Given the description of an element on the screen output the (x, y) to click on. 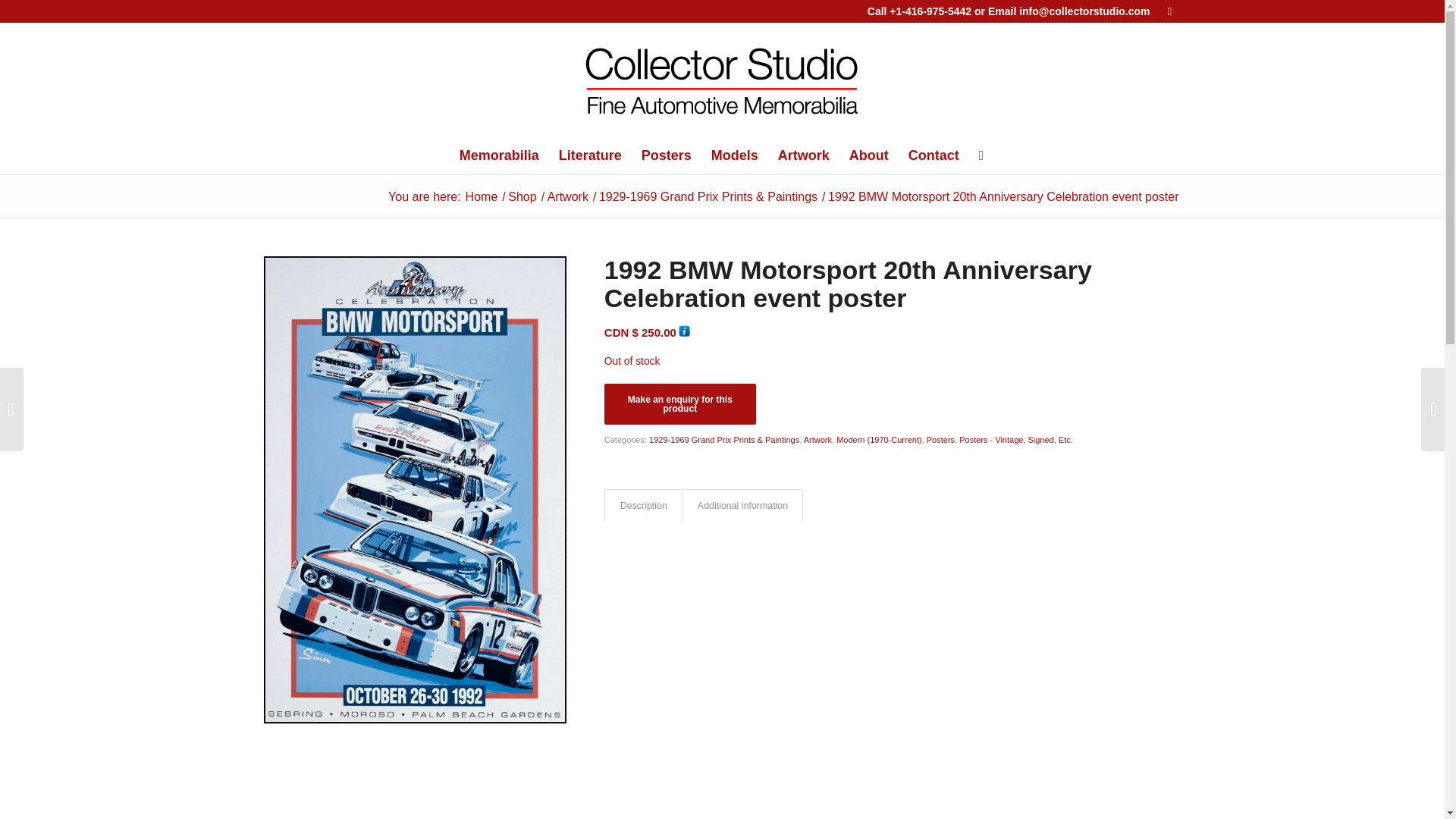
Literature (589, 155)
Make an enquiry for this product (679, 404)
BMWMoroso20th (414, 746)
Shop (521, 196)
Artwork (567, 196)
Collector Studio - Fine Automotive Memorabilia (481, 196)
Models (734, 155)
Instagram (1169, 11)
Memorabilia (498, 155)
Posters (666, 155)
